Given the description of an element on the screen output the (x, y) to click on. 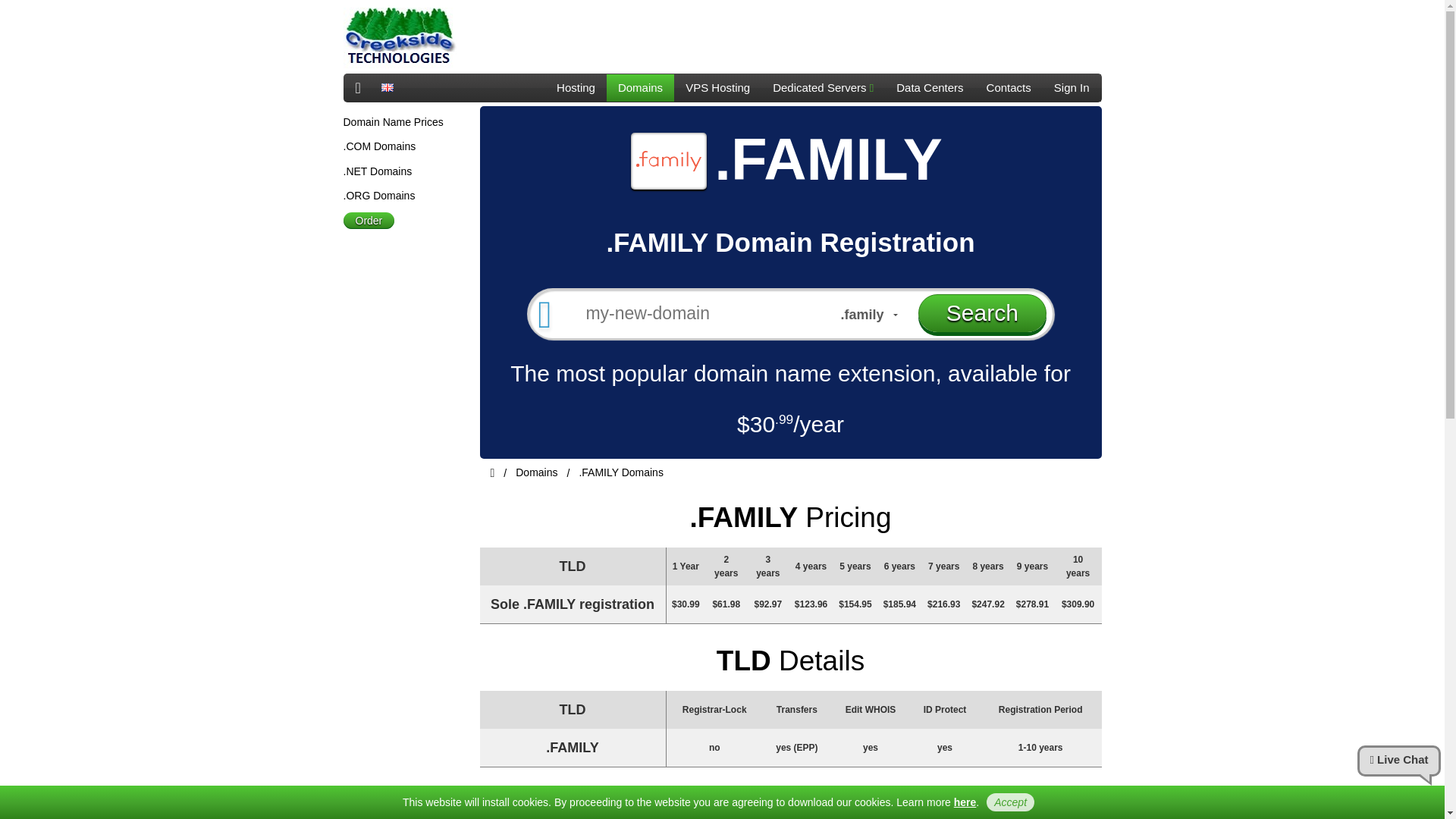
VPS Hosting (717, 87)
.NET Domains (377, 171)
Sign In (1071, 87)
Data Centers (929, 87)
Privacy Policy (964, 802)
Order (368, 220)
.ORG Domains (378, 195)
Hosting (575, 87)
Creekside Technologies (399, 38)
Dedicated Servers (823, 87)
Domain Name Prices (392, 121)
Search (982, 313)
Contacts (1008, 87)
Live Chat (1398, 760)
.FAMILY Domains (620, 472)
